Given the description of an element on the screen output the (x, y) to click on. 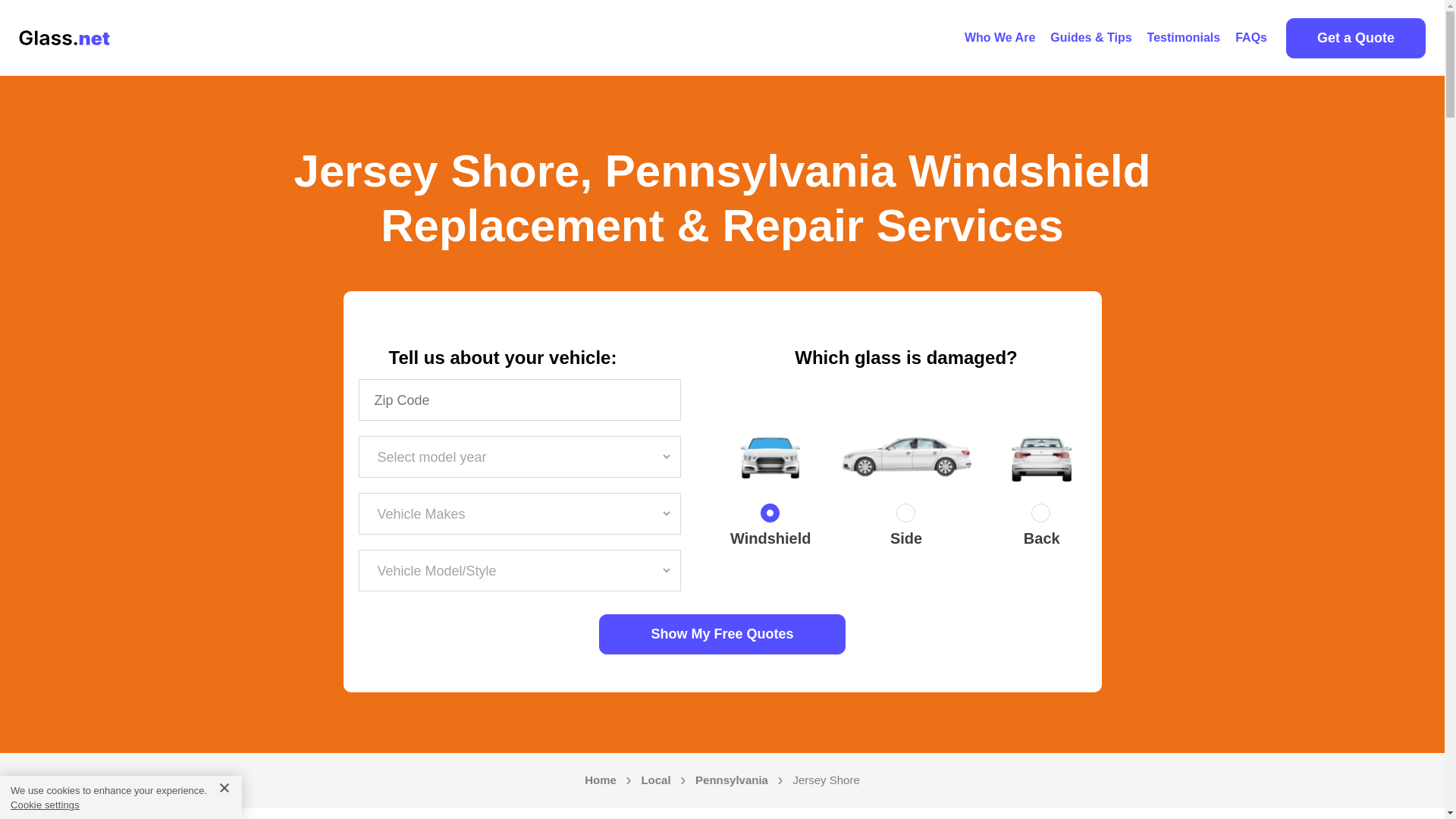
Jersey Shore (825, 780)
Testimonials (1184, 37)
Who We Are (999, 37)
Pennsylvania (731, 780)
Testimonials (1184, 37)
front (770, 516)
A Market Place for Car Glass (999, 37)
side (905, 516)
FAQs (1251, 37)
Show My Free Quotes (721, 634)
